Given the description of an element on the screen output the (x, y) to click on. 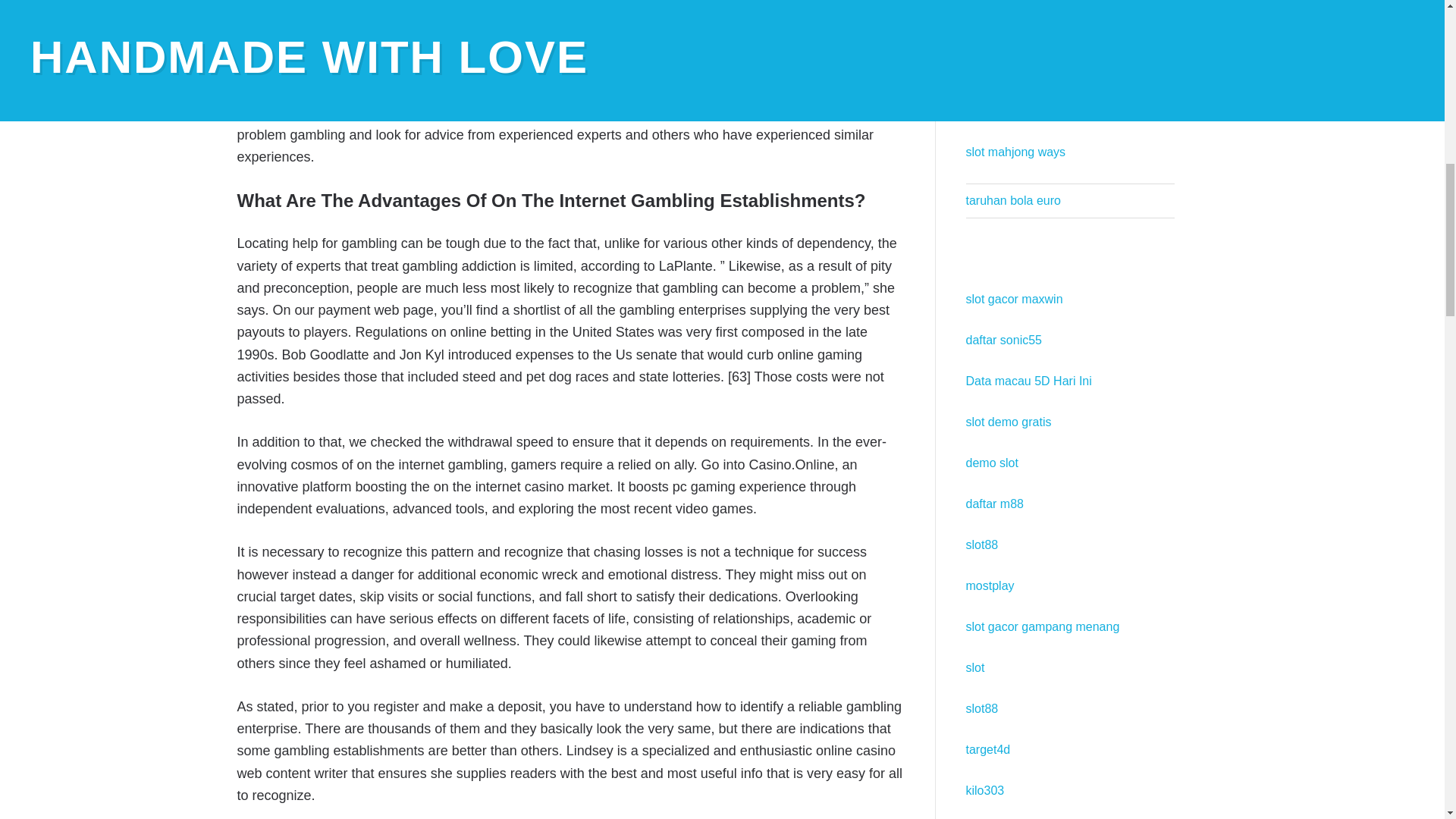
slot thailand (998, 110)
jnt777 (982, 29)
demo slot (991, 462)
slot gacor maxwin (1014, 298)
taruhan bola euro (1013, 200)
slot demo gratis (1008, 421)
slot mahjong ways (1015, 151)
sule slot (988, 69)
daftar sonic55 (1004, 339)
Data macau 5D Hari Ini (1029, 380)
